Given the description of an element on the screen output the (x, y) to click on. 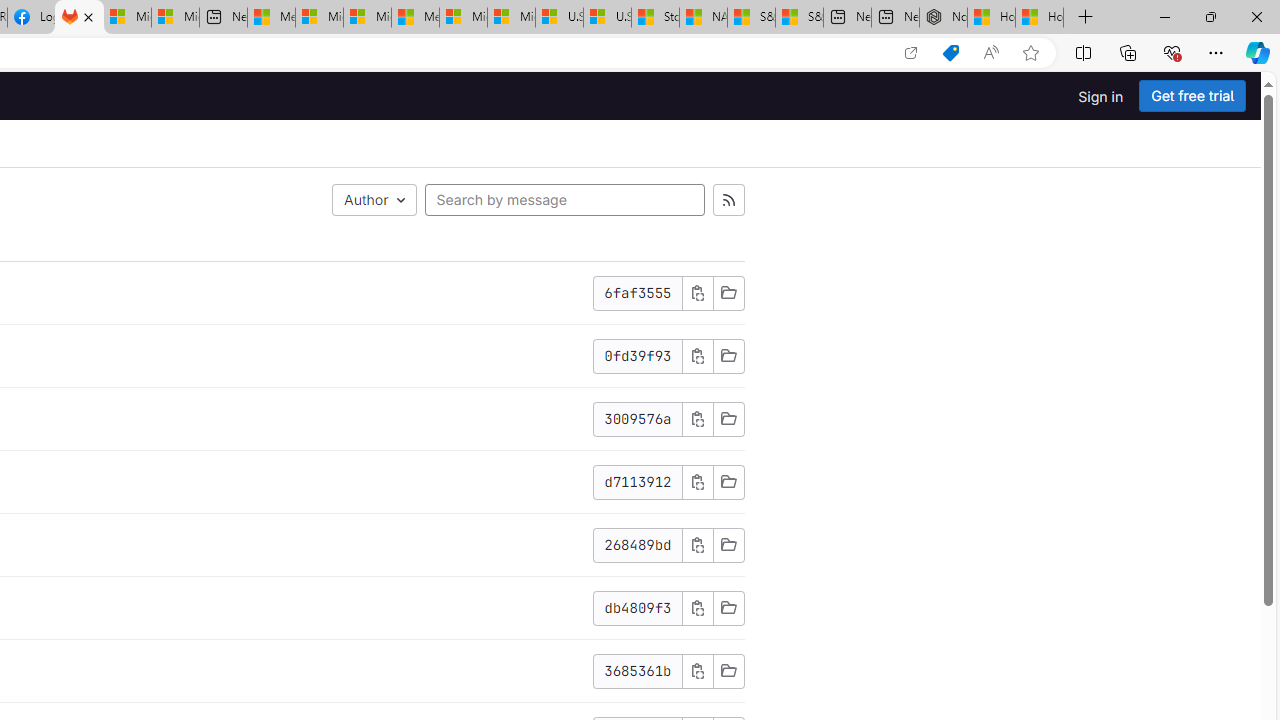
Microsoft account | Privacy (319, 17)
Sign in (1100, 95)
Browse Files (727, 671)
Get free trial (1192, 95)
How to Use a Monitor With Your Closed Laptop (1039, 17)
S&P 500, Nasdaq end lower, weighed by Nvidia dip | Watch (799, 17)
Get free trial (1192, 95)
Search by message (564, 200)
Sign in (1100, 95)
